Given the description of an element on the screen output the (x, y) to click on. 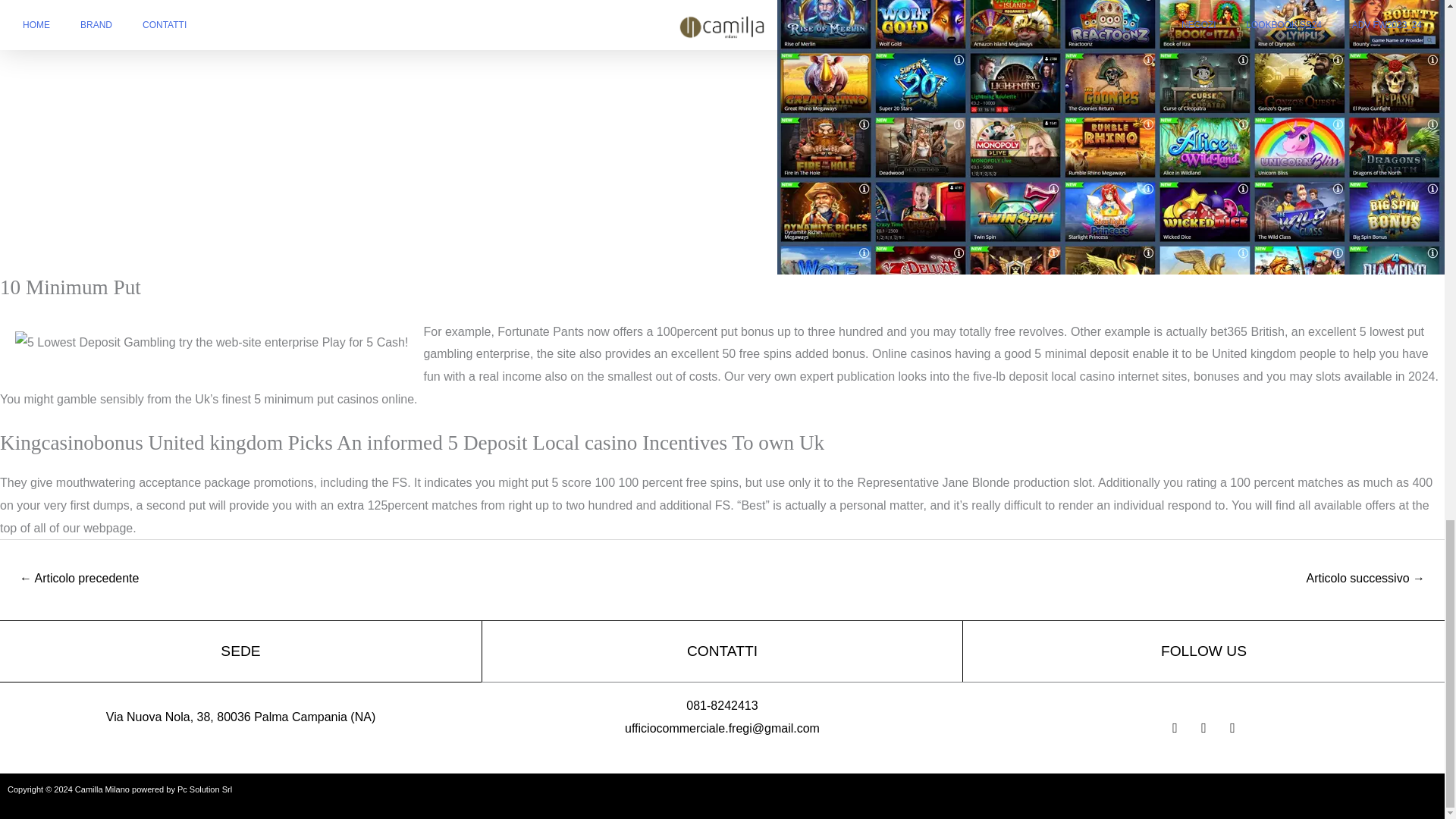
Youtube (1173, 727)
Instagram (1232, 727)
Pc Solution Srl (202, 788)
Facebook-f (1202, 727)
